Given the description of an element on the screen output the (x, y) to click on. 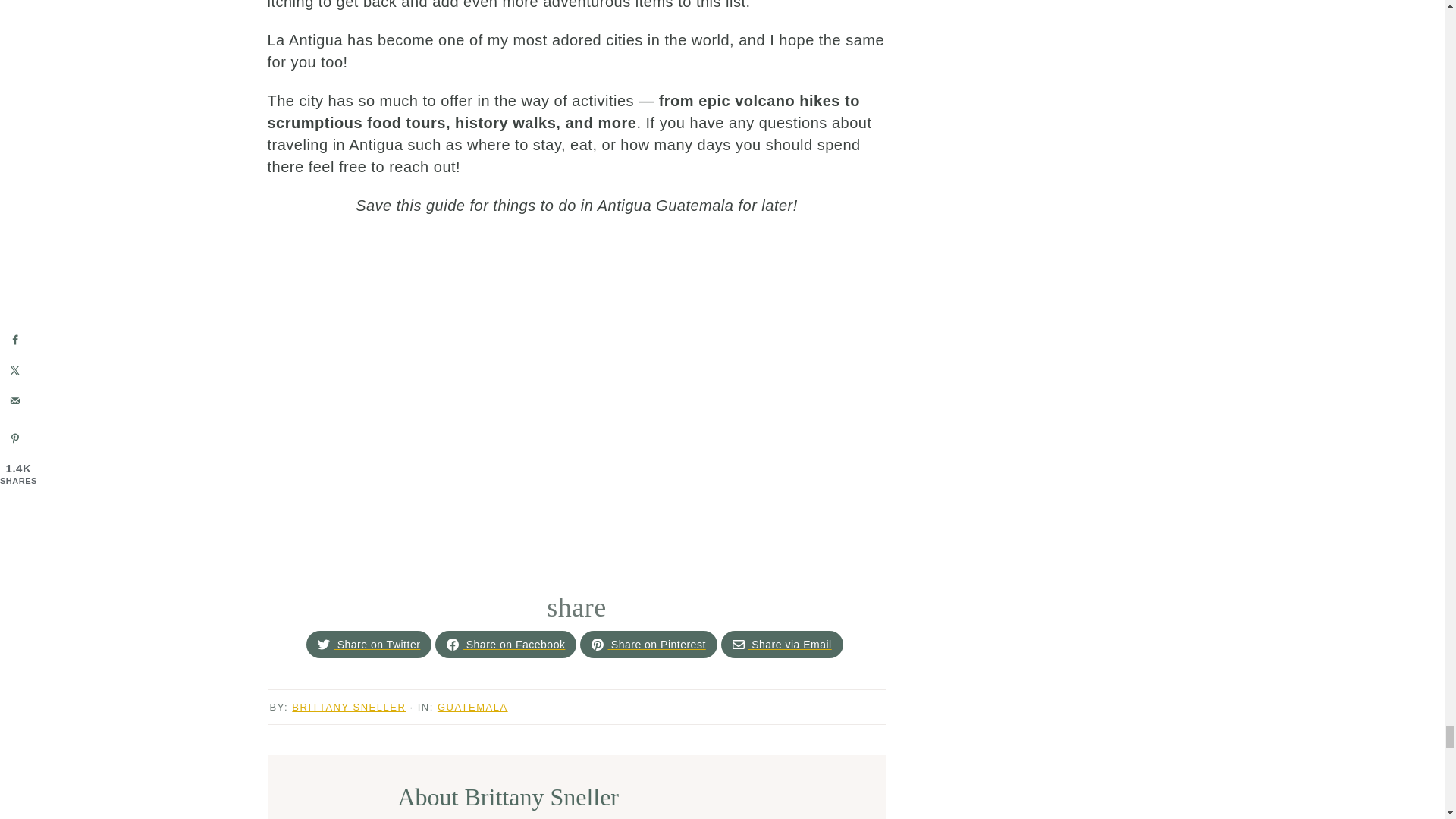
Share on Pinterest (597, 644)
Share on Pinterest (647, 644)
Share on Facebook (452, 644)
Share via Email (738, 644)
Share on Twitter (323, 644)
Share on Twitter (367, 644)
Share via Email (781, 644)
Share on Facebook (505, 644)
